Given the description of an element on the screen output the (x, y) to click on. 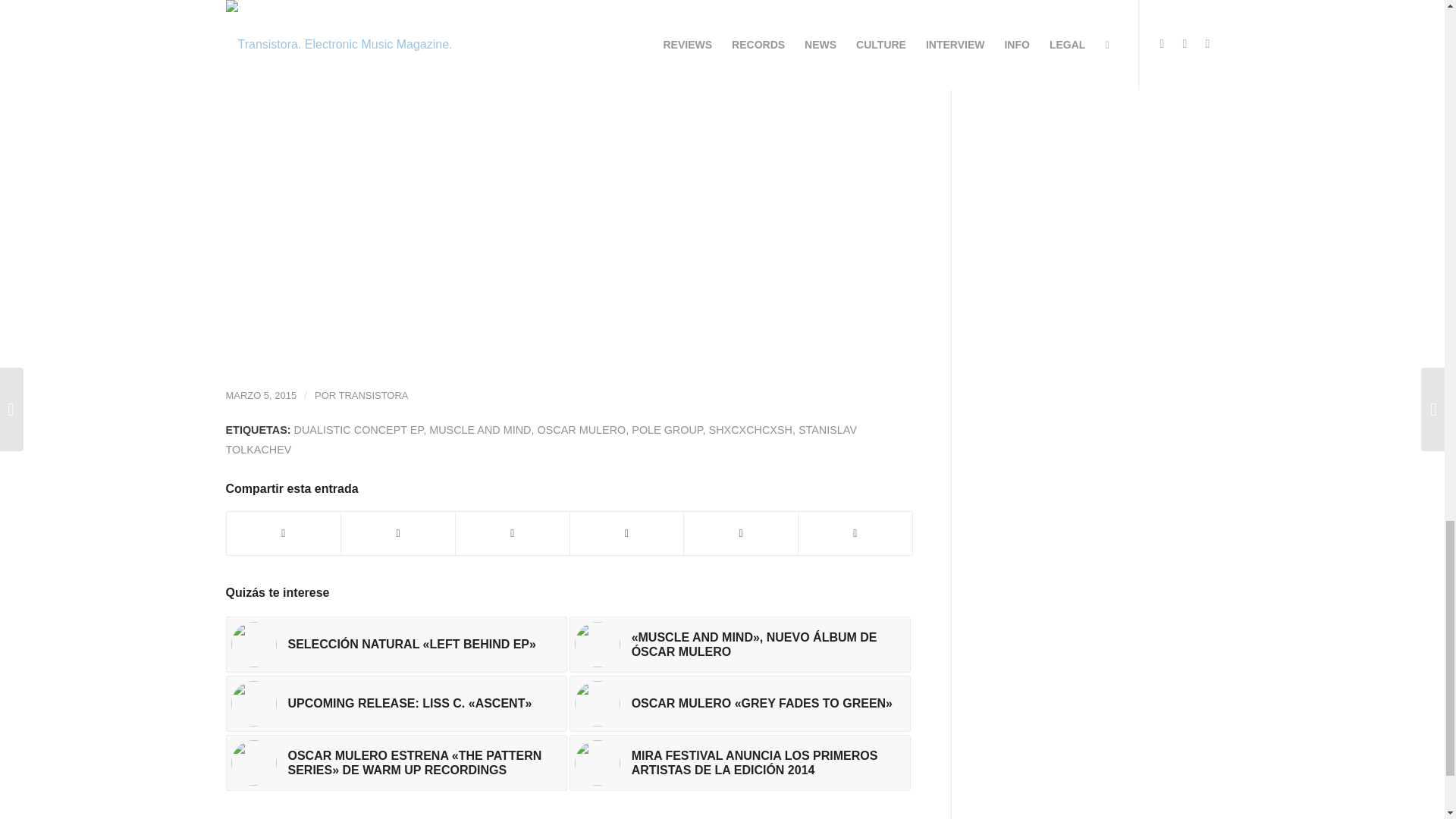
seleccion natural pole group transistora (253, 644)
STANISLAV TOLKACHEV (541, 439)
OSCAR MULERO (581, 428)
DUALISTIC CONCEPT EP (358, 428)
TRANSISTORA (374, 395)
muscle-and-mind-new-album-oscar-mulero-transistora (597, 644)
POLE GROUP (666, 428)
MUSCLE AND MIND (480, 428)
SHXCXCHCXSH (750, 428)
Entradas de Transistora (374, 395)
